Given the description of an element on the screen output the (x, y) to click on. 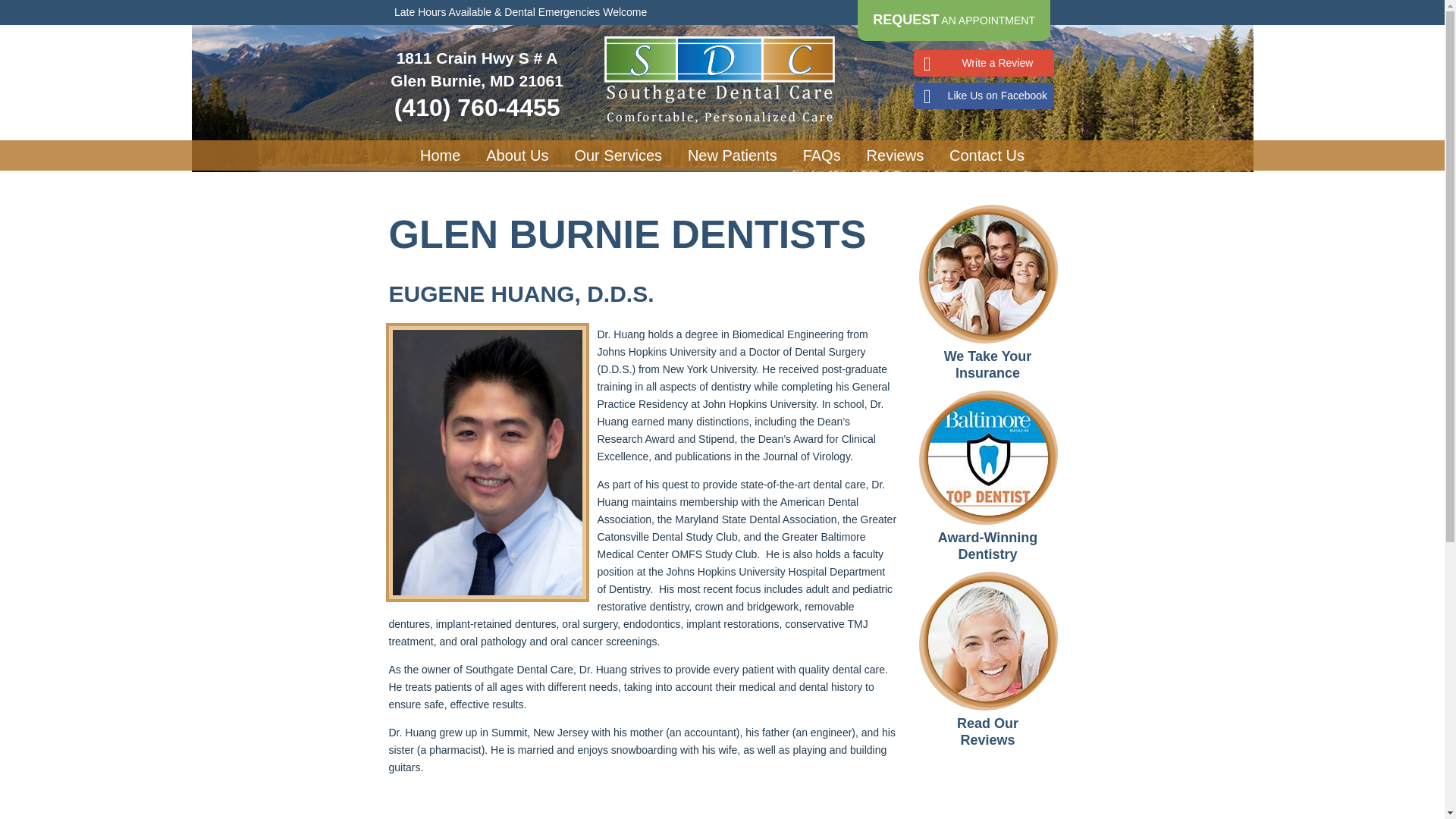
Home (440, 155)
About Us (516, 155)
Like Us on Facebook (984, 95)
Glen Burnie Family Dentist (440, 155)
FAQs (821, 155)
Our Services (617, 155)
New Patients (733, 155)
Write a Review (984, 62)
Reviews (896, 155)
Contact Us (986, 155)
